Given the description of an element on the screen output the (x, y) to click on. 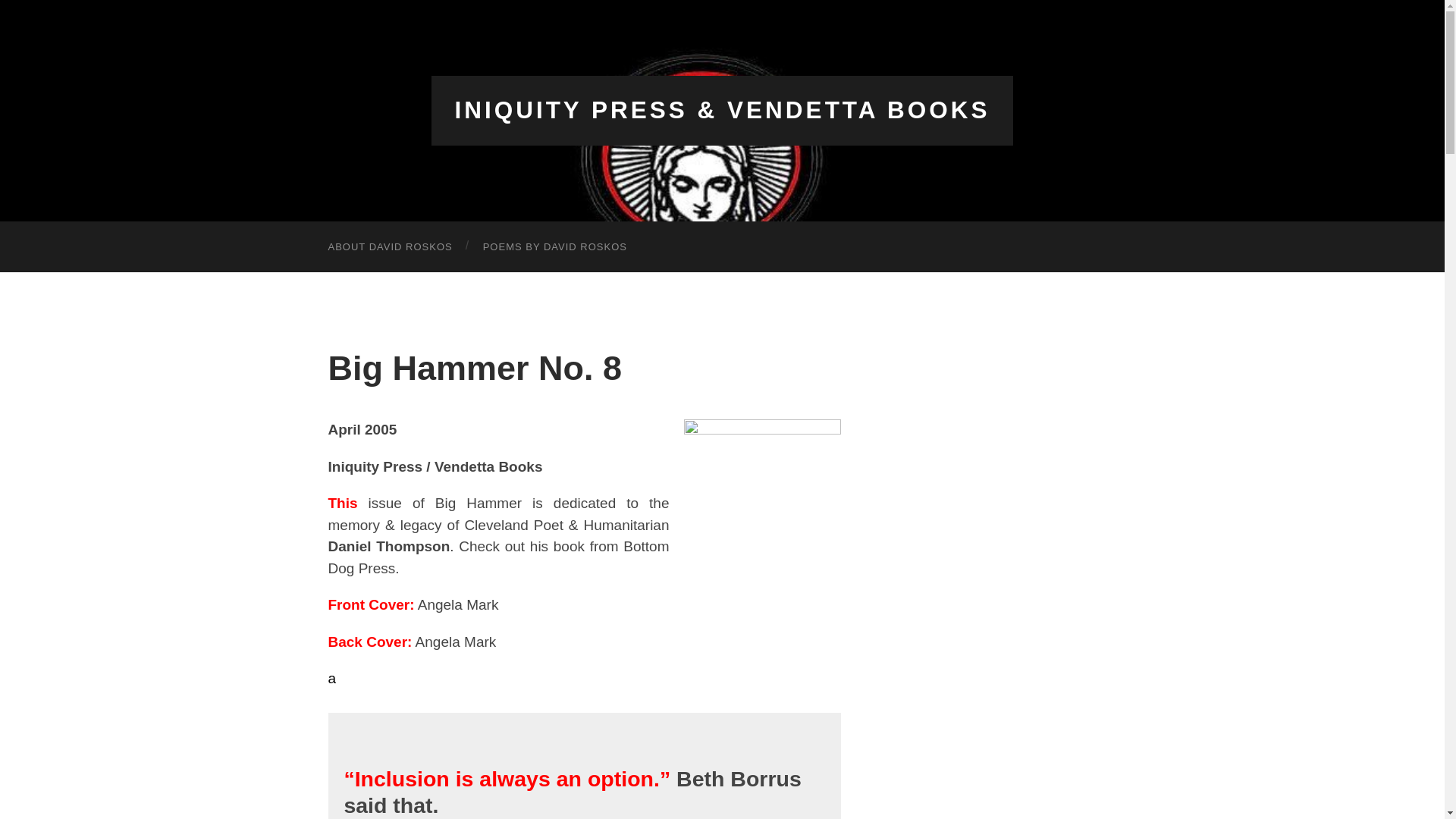
Big Hammer No. 8 (474, 367)
POEMS BY DAVID ROSKOS (554, 246)
ABOUT DAVID ROSKOS (390, 246)
Big Hammer No. 8 (474, 367)
